Given the description of an element on the screen output the (x, y) to click on. 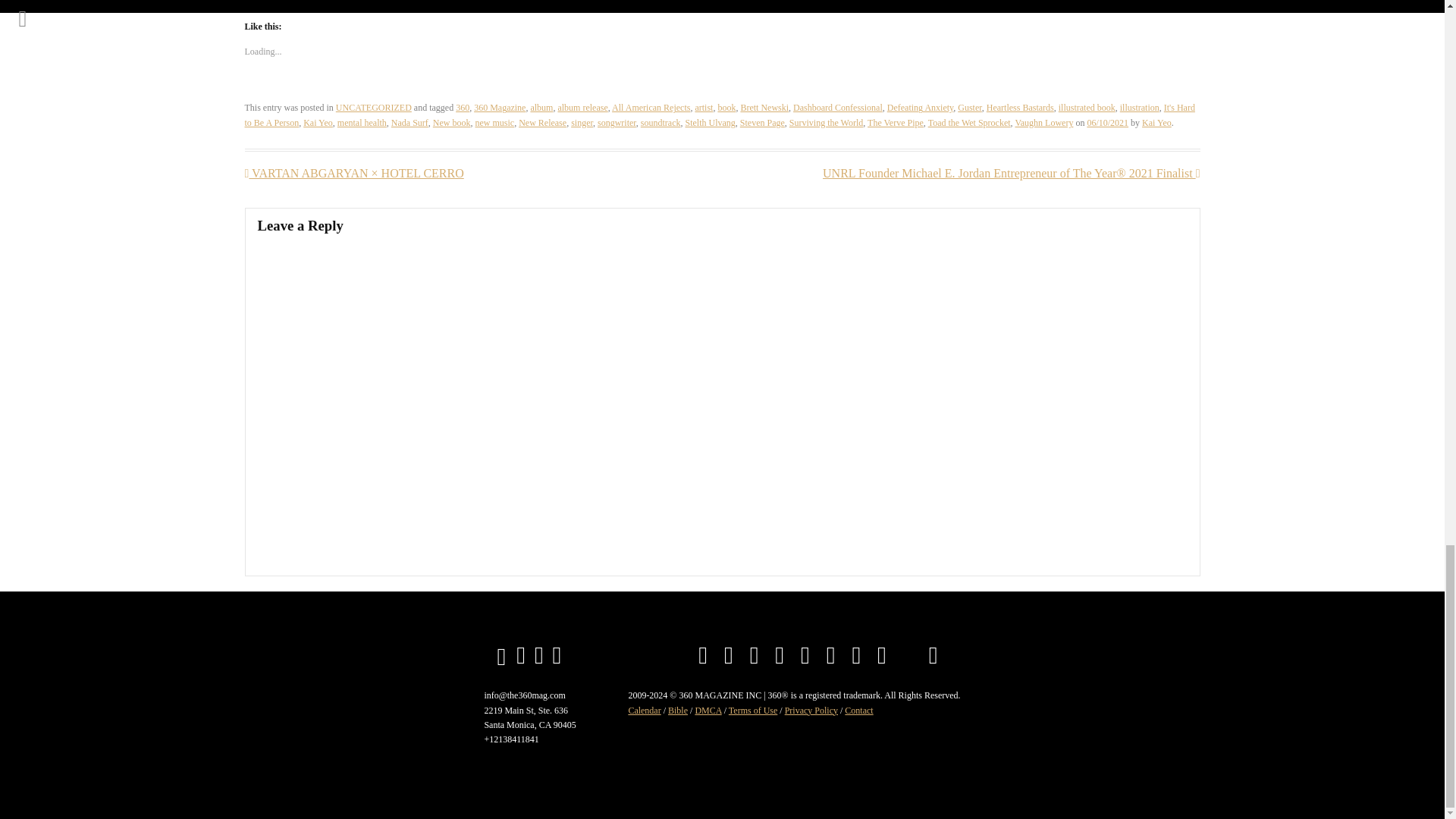
View all posts by Kai Yeo (1156, 122)
1:51 pm (1107, 122)
